Given the description of an element on the screen output the (x, y) to click on. 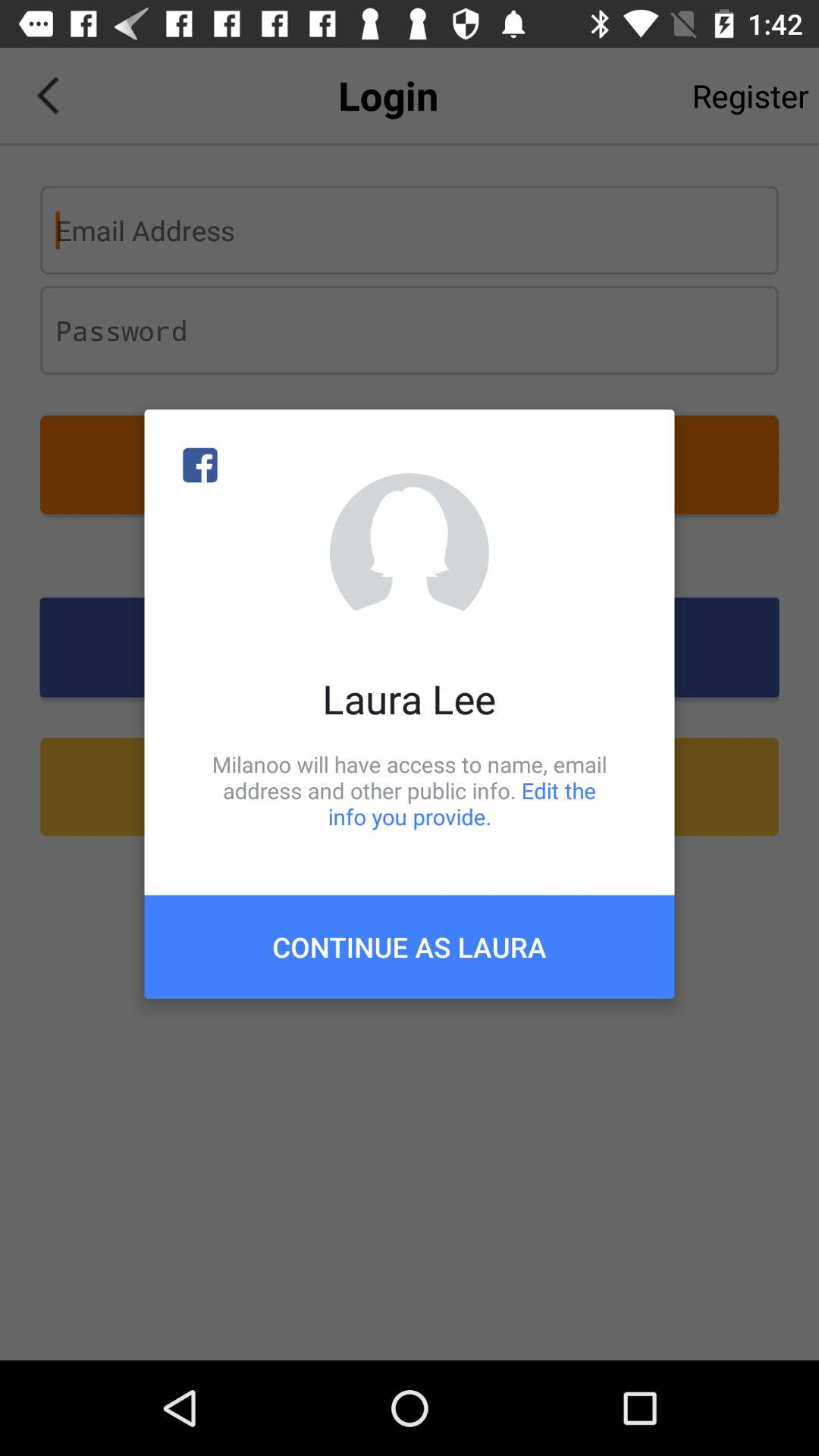
jump until continue as laura item (409, 946)
